Given the description of an element on the screen output the (x, y) to click on. 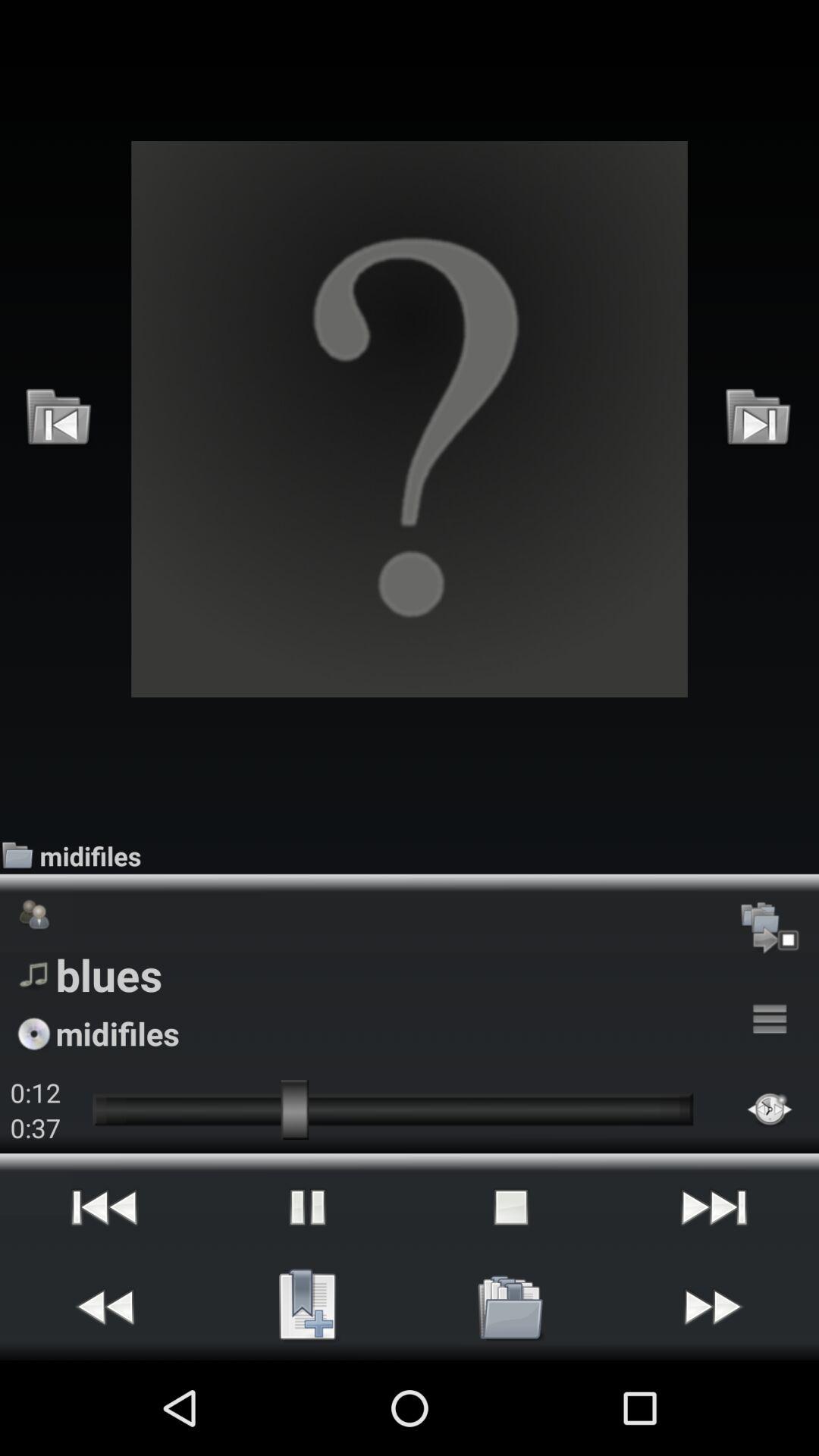
turn on the icon above midifiles item (409, 419)
